Given the description of an element on the screen output the (x, y) to click on. 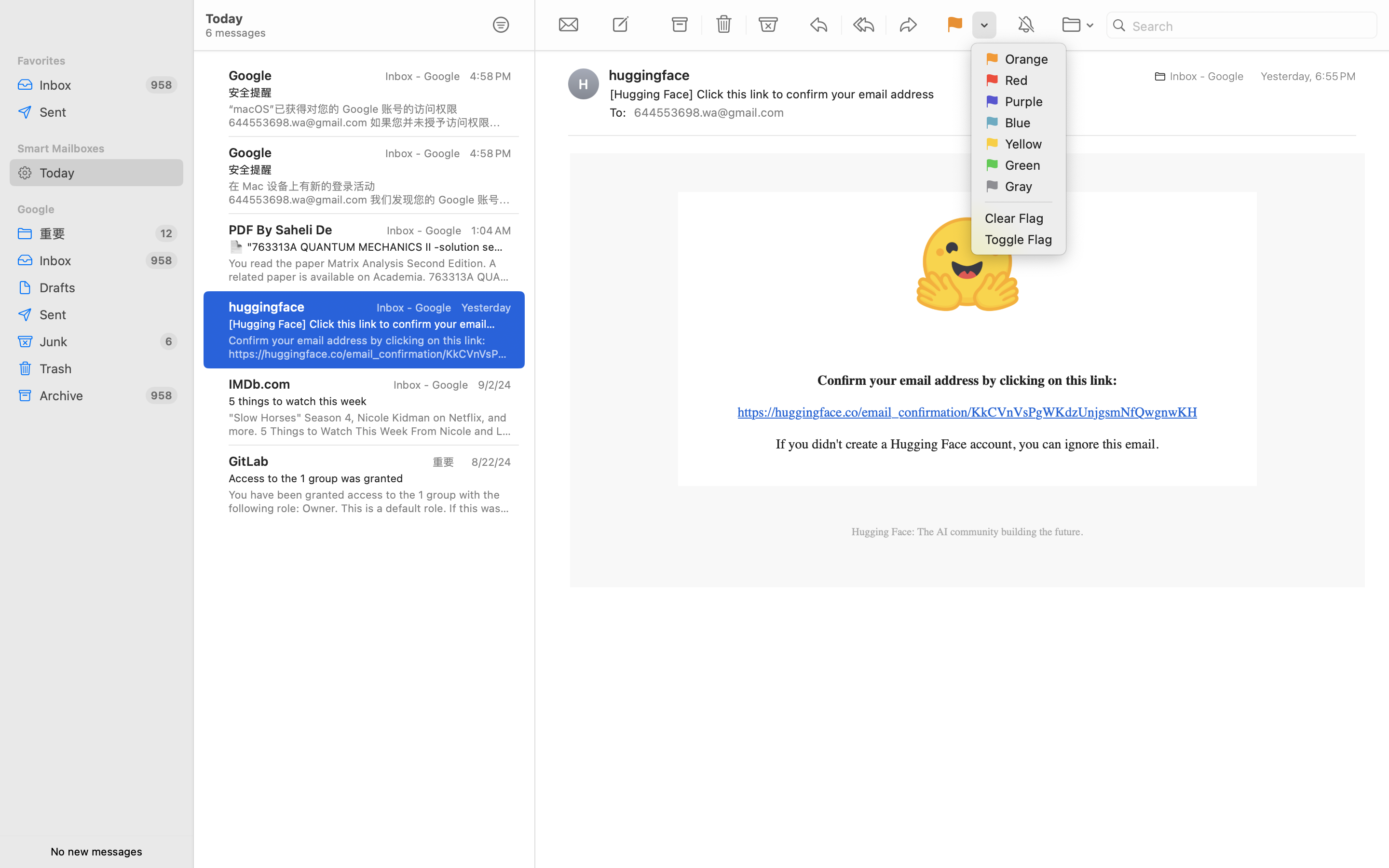
1:04 AM Element type: AXStaticText (490, 230)
Smart Mailboxes Element type: AXStaticText (96, 148)
"Slow Horses" Season 4, Nicole Kidman on Netflix, and more. 5 Things to Watch This Week From Nicole and Liev in "The Perfect Couple" to the return of the Emmy-nominated series "Slow Horses," these picks will help you kick off September in style. See the best of what's new on TV this week with our list of five things to watch. See the list Slow Horses Season 4 of this spy drama raises the stakes as the Slough House crew investigates a bombing when the series returns to Apple TV+. Learn more Tell Me Lies Lucy and Stephen return to Baird College as the fallout from their relationship continues to resonate in Season 2 of this Hulu drama. Learn more The Perfect Couple An idyllic Nantucket wedding crumbles when a body is found in the bay, turning everyone into a suspect in this Netflix limited series based on the bestselling novel by Elin Hilderbrand. Learn more The Boy and the Heron Mahito ventures into the world of the dead after his mother's passing in this Academy Award-winning film's st Element type: AXStaticText (369, 423)
Today Element type: AXTextField (107, 172)
重要 Element type: AXTextField (93, 233)
